Given the description of an element on the screen output the (x, y) to click on. 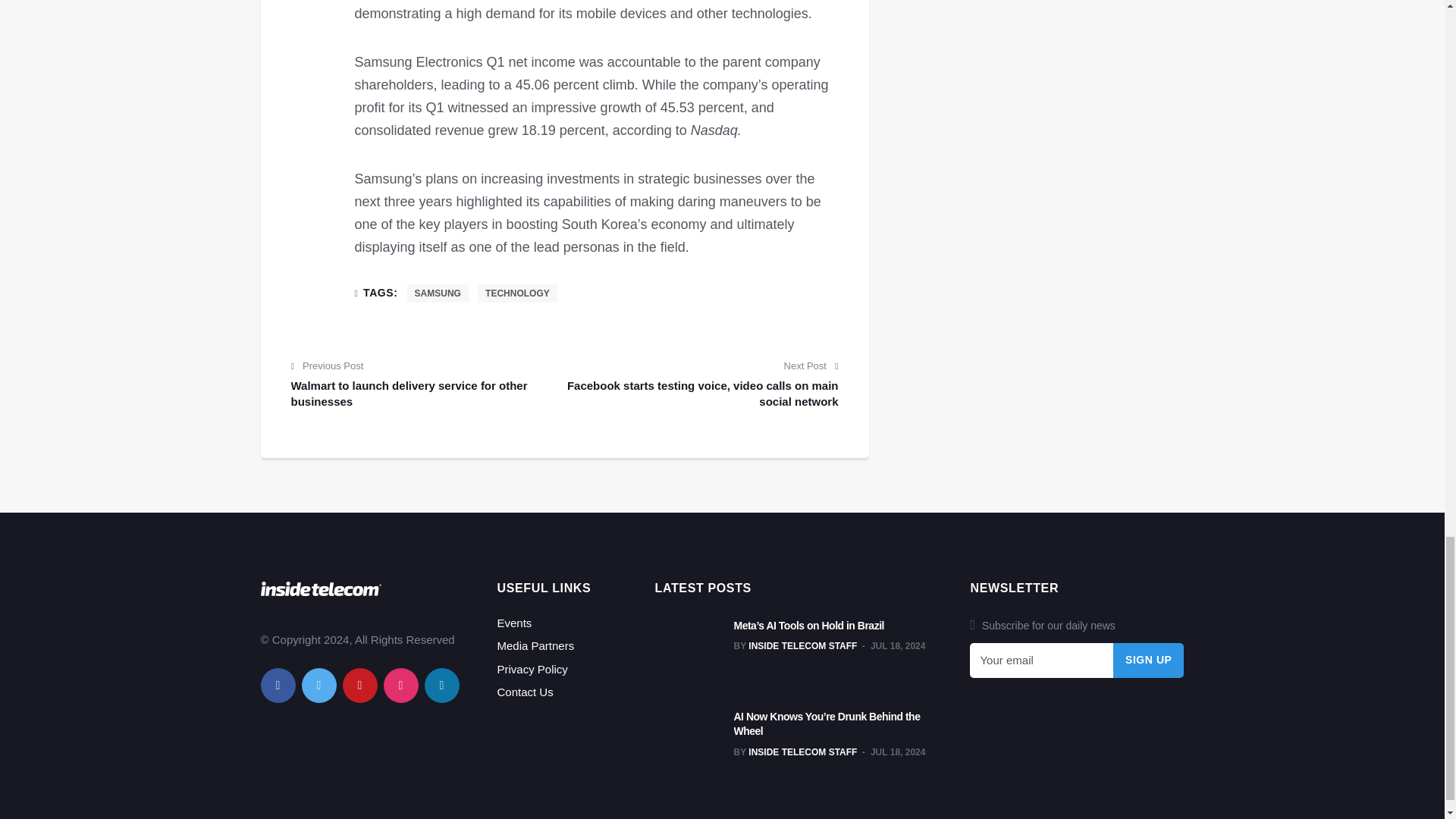
Sign Up (1149, 660)
